Given the description of an element on the screen output the (x, y) to click on. 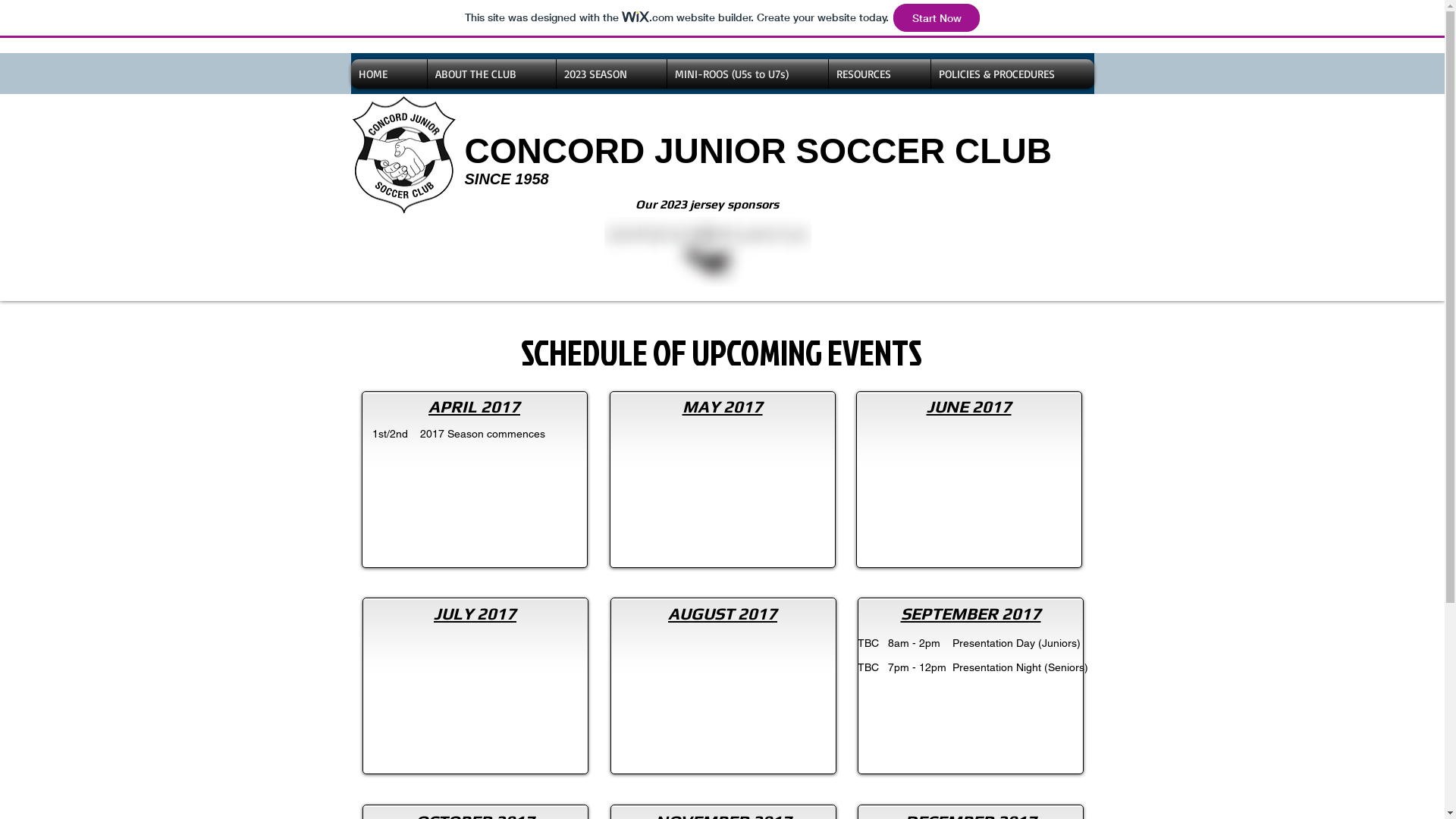
SINCE 1958 Element type: text (506, 178)
HOME Element type: text (388, 73)
CONCORD JUNIOR SOCCER CLUB Element type: text (757, 150)
POLICIES & PROCEDURES Element type: text (1012, 73)
